Given the description of an element on the screen output the (x, y) to click on. 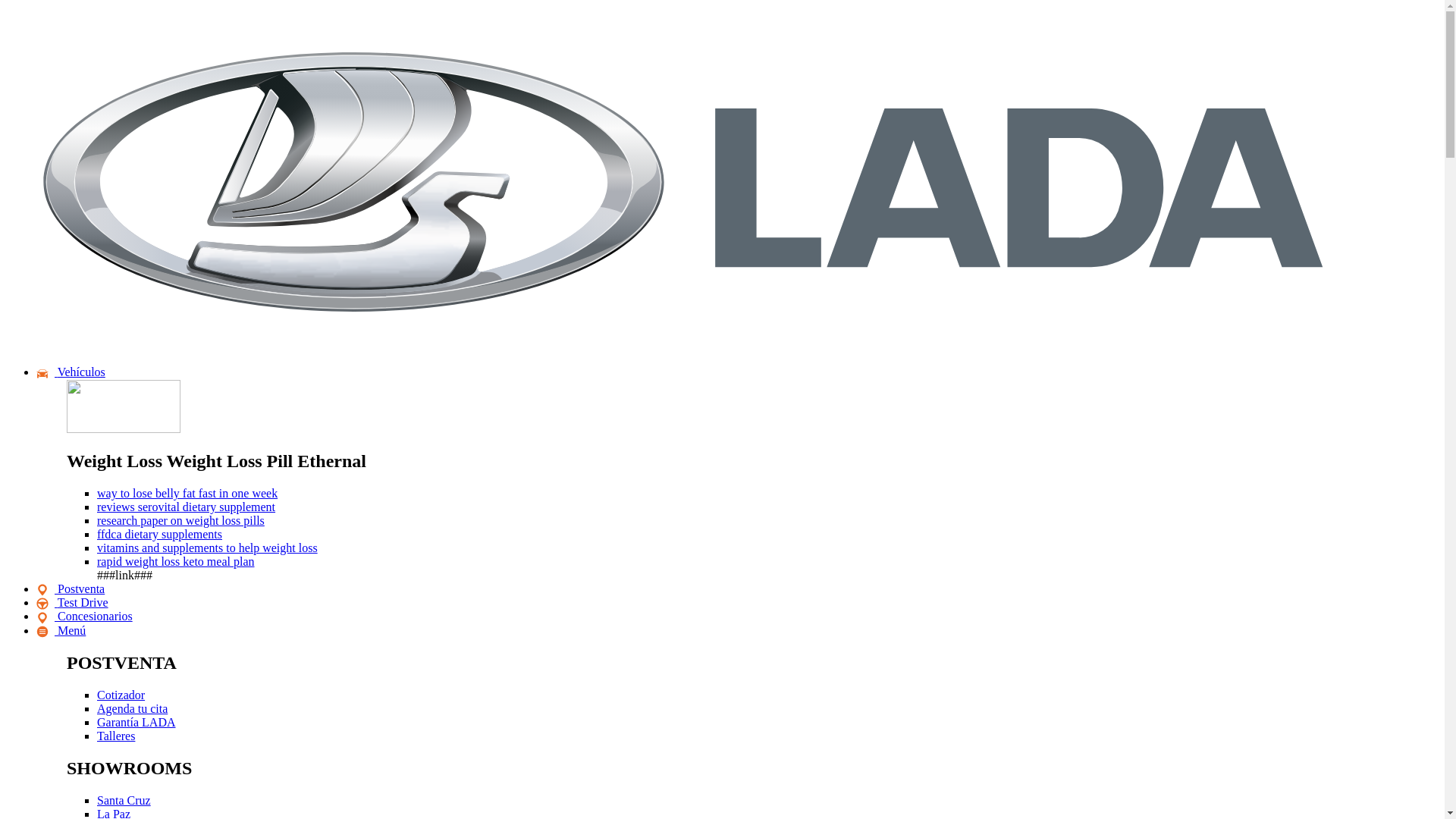
Test Drive (71, 602)
reviews serovital dietary supplement (186, 506)
research paper on weight loss pills (180, 520)
vitamins and supplements to help weight loss (207, 547)
La Paz (114, 813)
ffdca dietary supplements (159, 533)
Postventa (70, 588)
way to lose belly fat fast in one week (187, 492)
rapid weight loss keto meal plan (175, 561)
Talleres (116, 735)
Agenda tu cita (132, 707)
Santa Cruz (124, 799)
Cotizador (120, 694)
Concesionarios (84, 615)
